Given the description of an element on the screen output the (x, y) to click on. 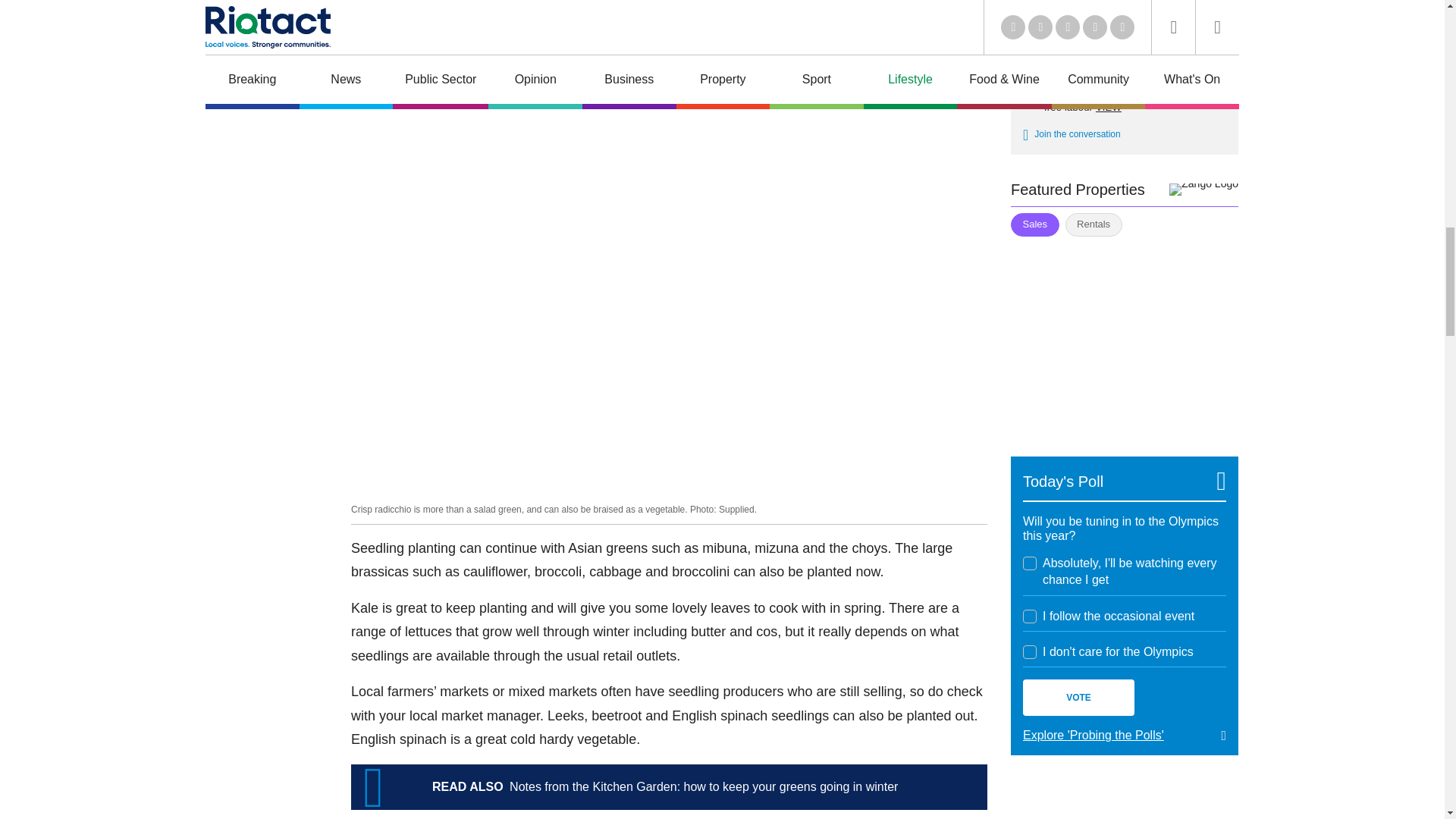
Zango (1204, 189)
2045 (1029, 652)
Zango Sales (1124, 337)
   Vote    (1078, 697)
2043 (1029, 563)
2044 (1029, 616)
